Given the description of an element on the screen output the (x, y) to click on. 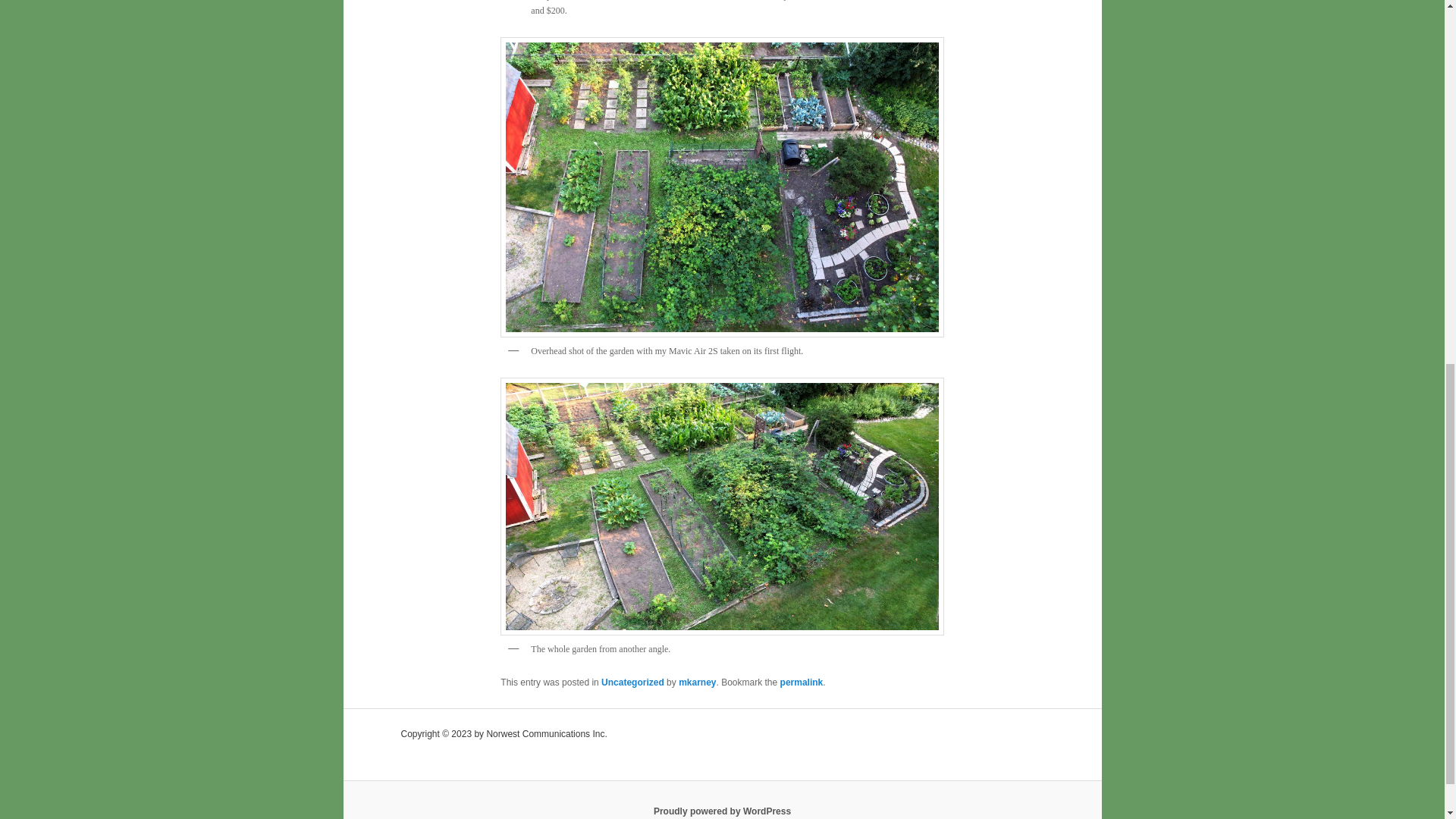
Permalink to More Garden Photography (802, 682)
mkarney (697, 682)
Proudly powered by WordPress (721, 810)
Semantic Personal Publishing Platform (721, 810)
permalink (802, 682)
Uncategorized (632, 682)
